Given the description of an element on the screen output the (x, y) to click on. 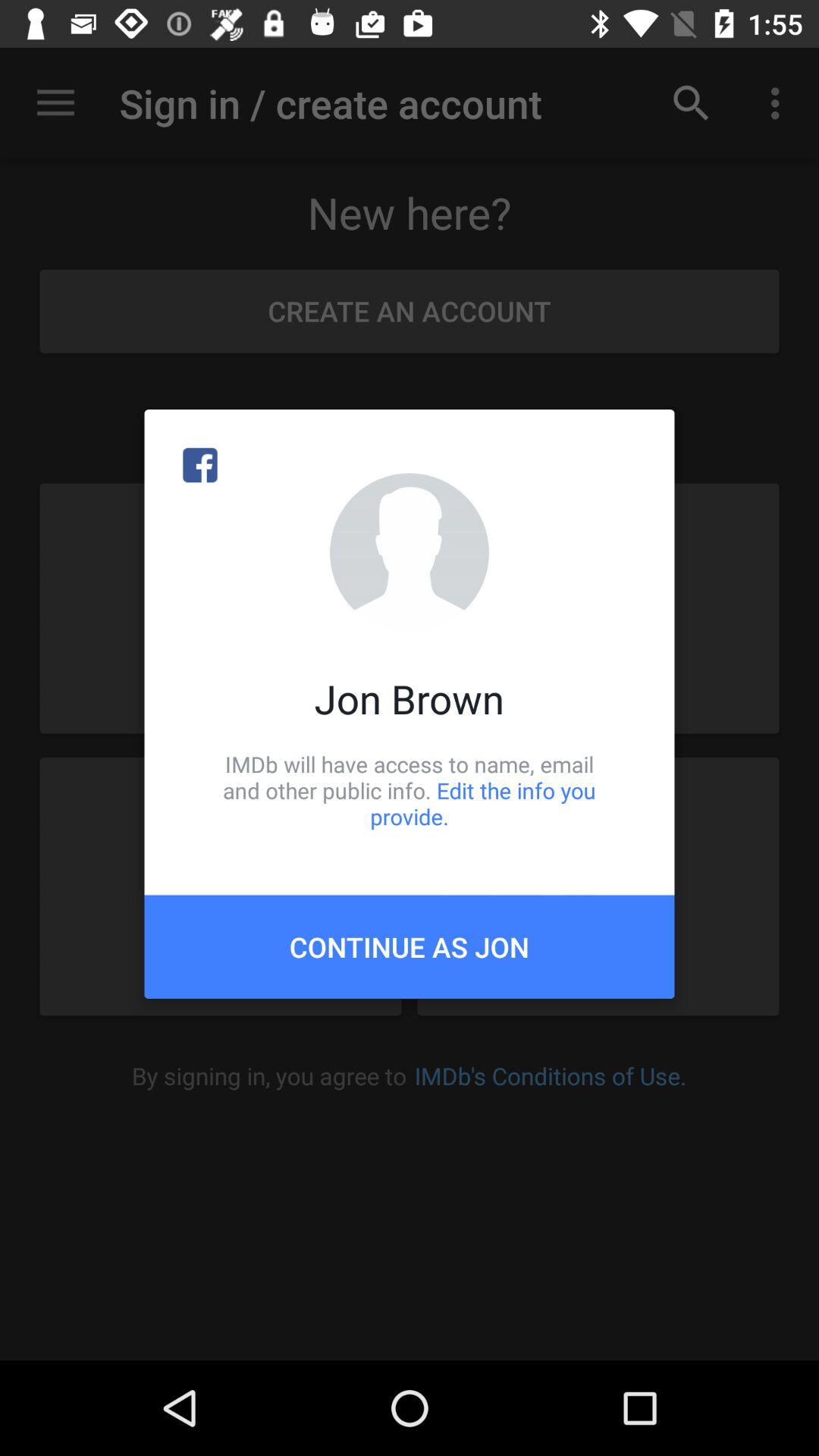
scroll to the continue as jon (409, 946)
